Given the description of an element on the screen output the (x, y) to click on. 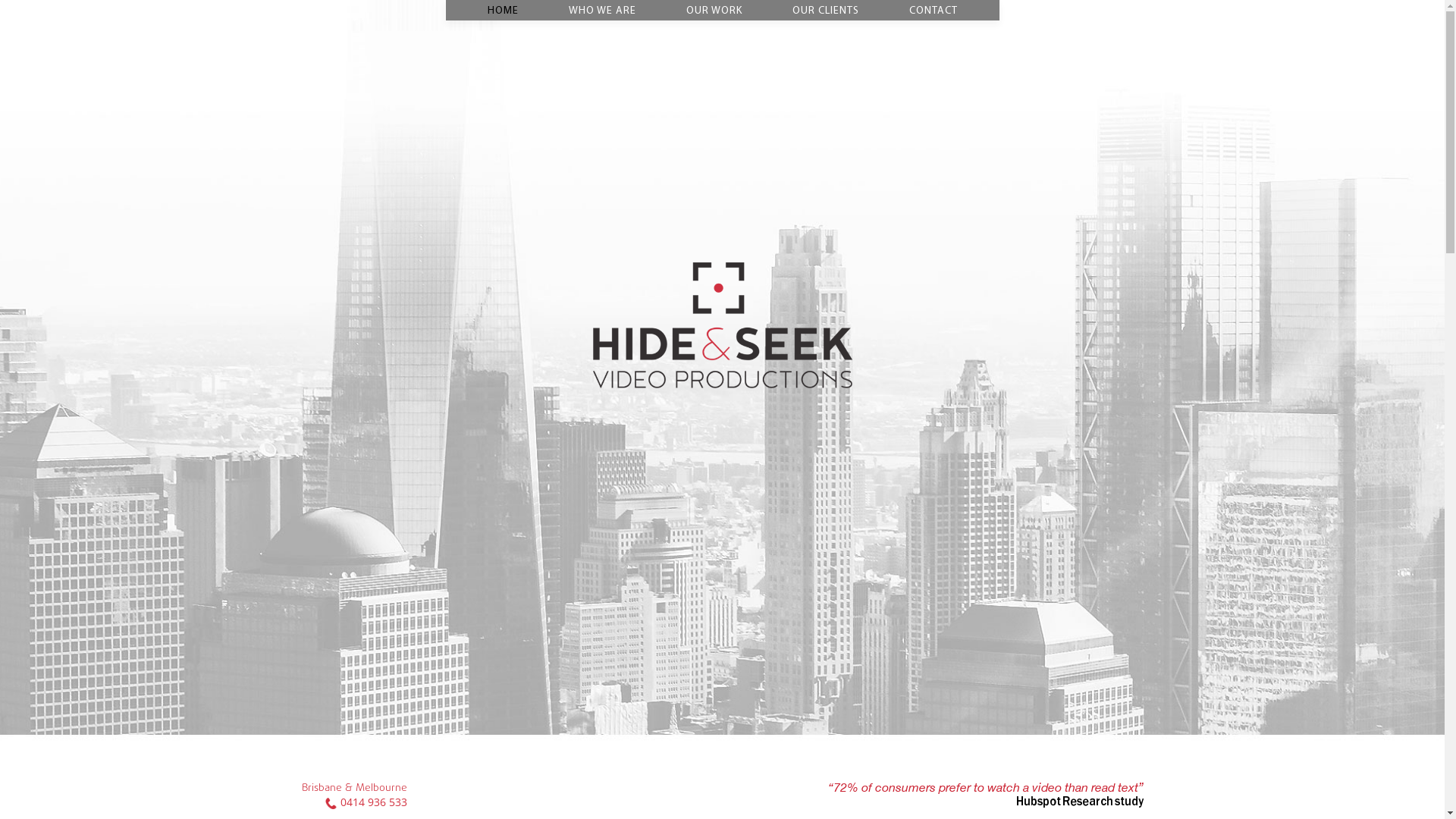
WHO WE ARE Element type: text (601, 10)
0414 936 533 Element type: text (372, 802)
OUR CLIENTS Element type: text (825, 10)
HOME Element type: text (503, 10)
CONTACT Element type: text (933, 10)
Skip to content Element type: text (37, 9)
OUR WORK Element type: text (713, 10)
